Given the description of an element on the screen output the (x, y) to click on. 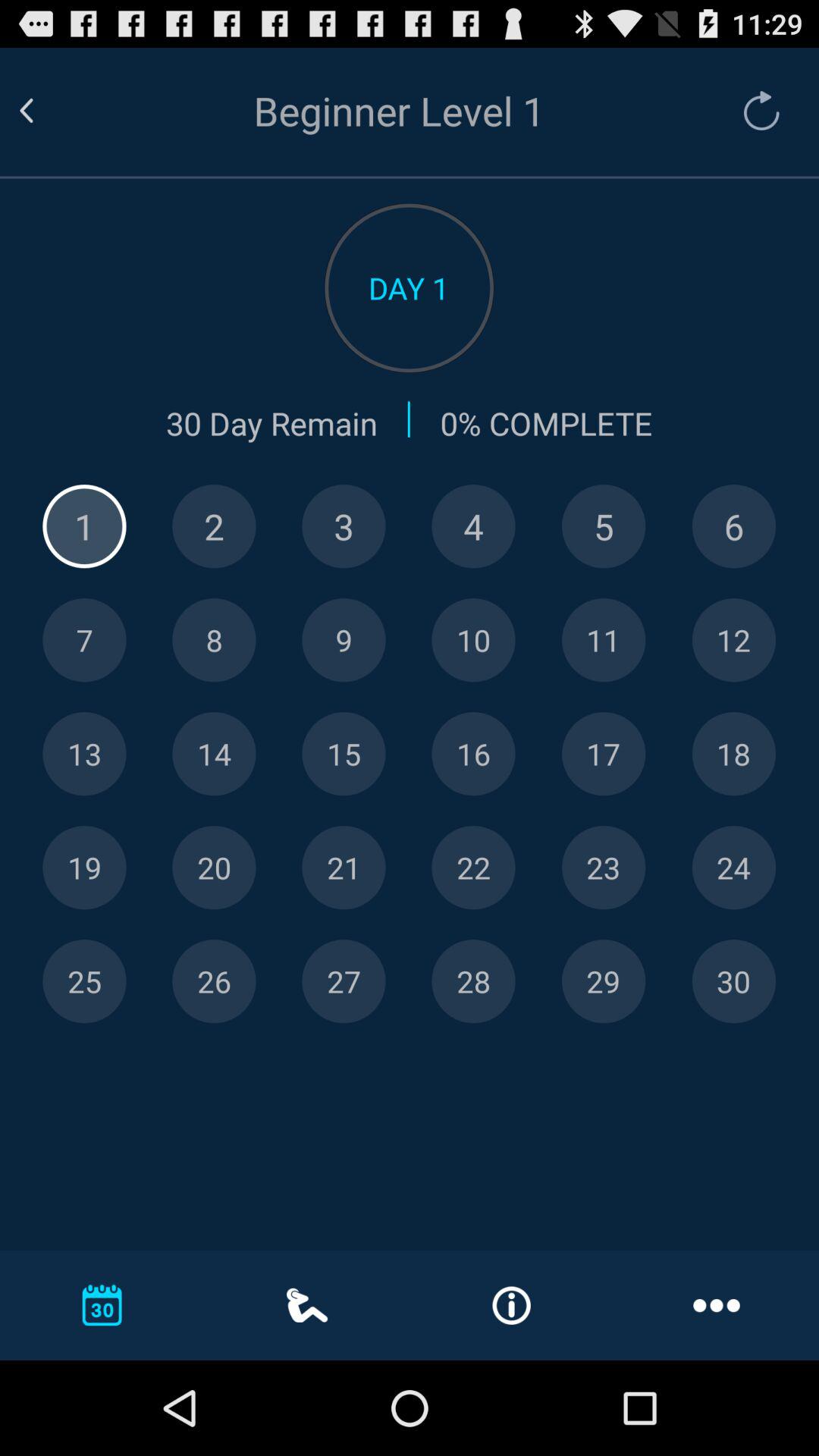
choose a day (733, 639)
